Given the description of an element on the screen output the (x, y) to click on. 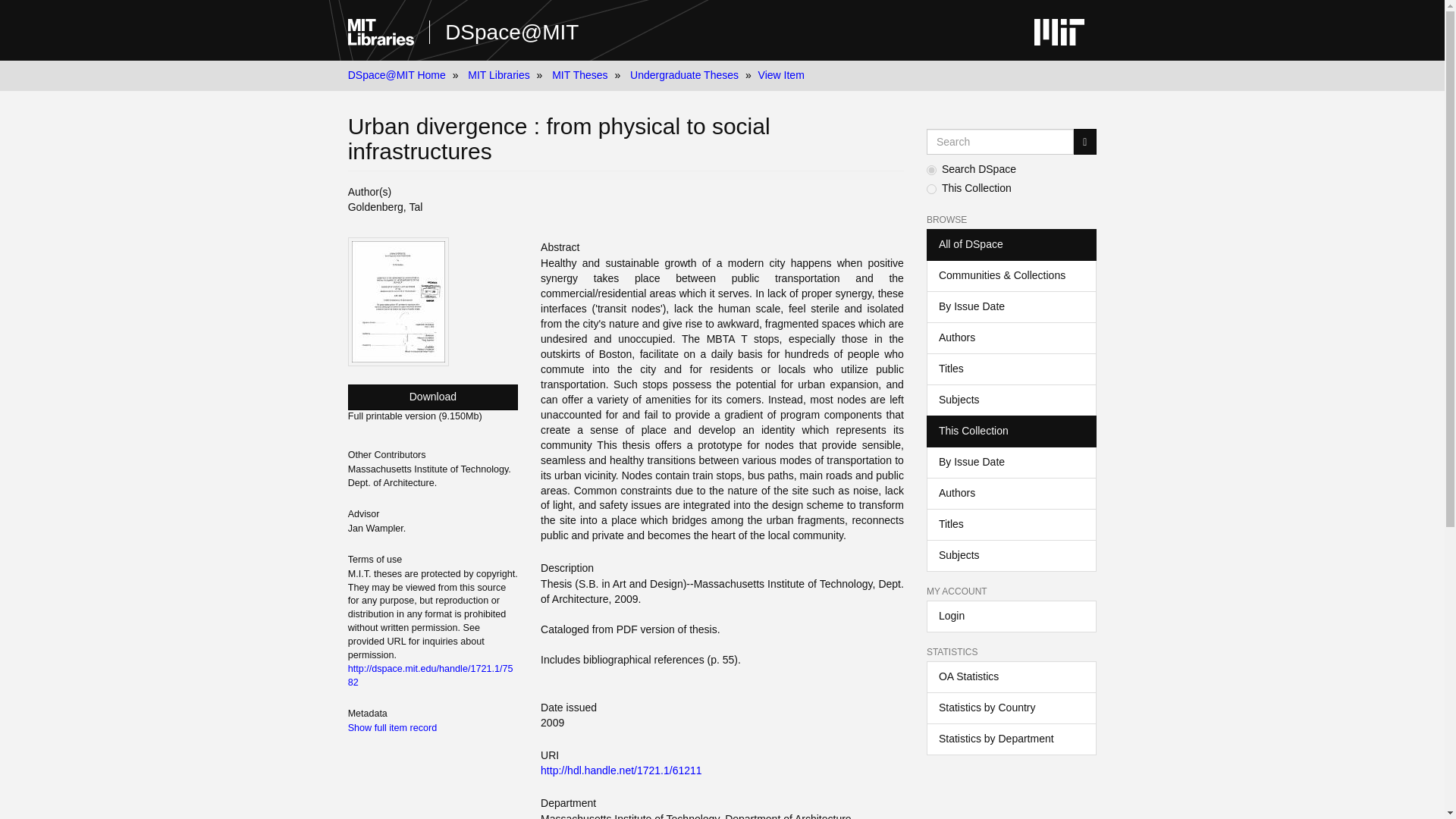
By Issue Date (1011, 306)
Login (1011, 616)
MIT Libraries (498, 74)
This Collection (1011, 431)
Authors (1011, 493)
Subjects (1011, 400)
Subjects (1011, 555)
Download (432, 397)
MIT Theses (579, 74)
Titles (1011, 524)
Statistics by Country (1011, 707)
Authors (1011, 337)
Show full item record (392, 727)
Undergraduate Theses (684, 74)
By Issue Date (1011, 462)
